Given the description of an element on the screen output the (x, y) to click on. 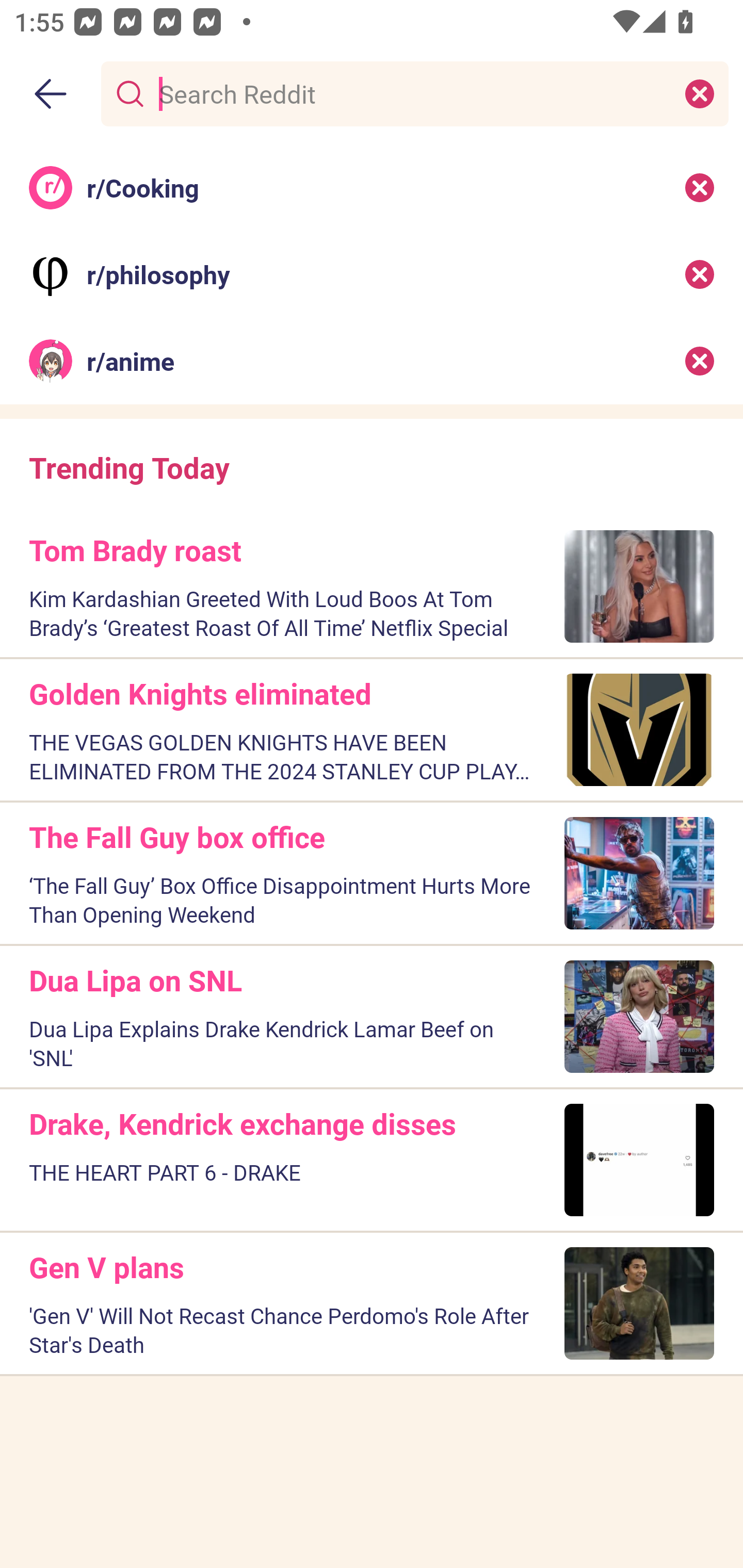
Back (50, 93)
Search Reddit (410, 93)
Clear search (699, 93)
r/Cooking Recent search: r/Cooking Remove (371, 187)
Remove (699, 187)
r/philosophy Recent search: r/philosophy Remove (371, 274)
Remove (699, 274)
r/anime Recent search: r/anime Remove (371, 361)
Remove (699, 361)
